Given the description of an element on the screen output the (x, y) to click on. 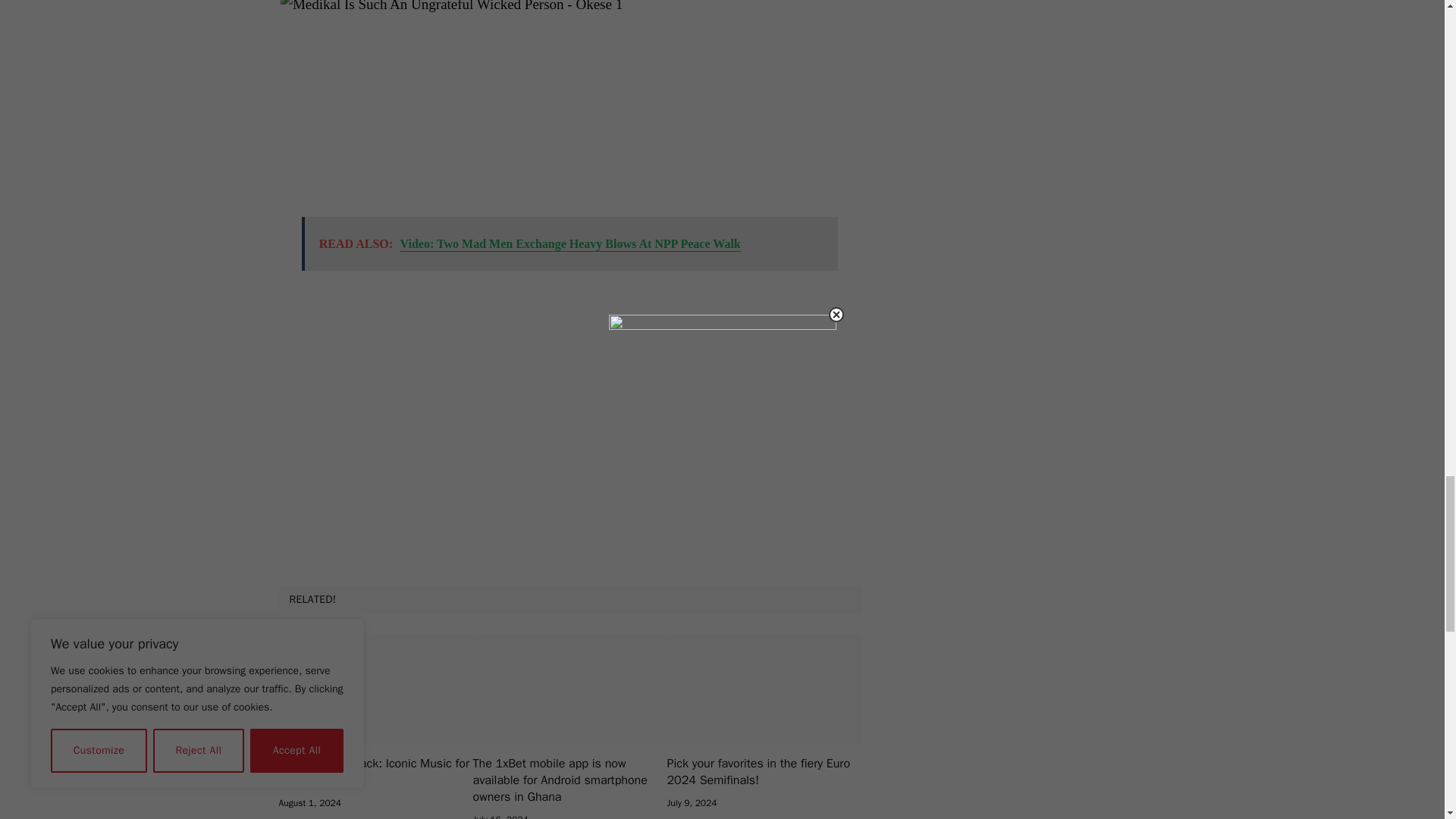
Advertisement (569, 422)
Medikal Is Such An Ungrateful Wicked Person - Okese 1 (508, 95)
